Given the description of an element on the screen output the (x, y) to click on. 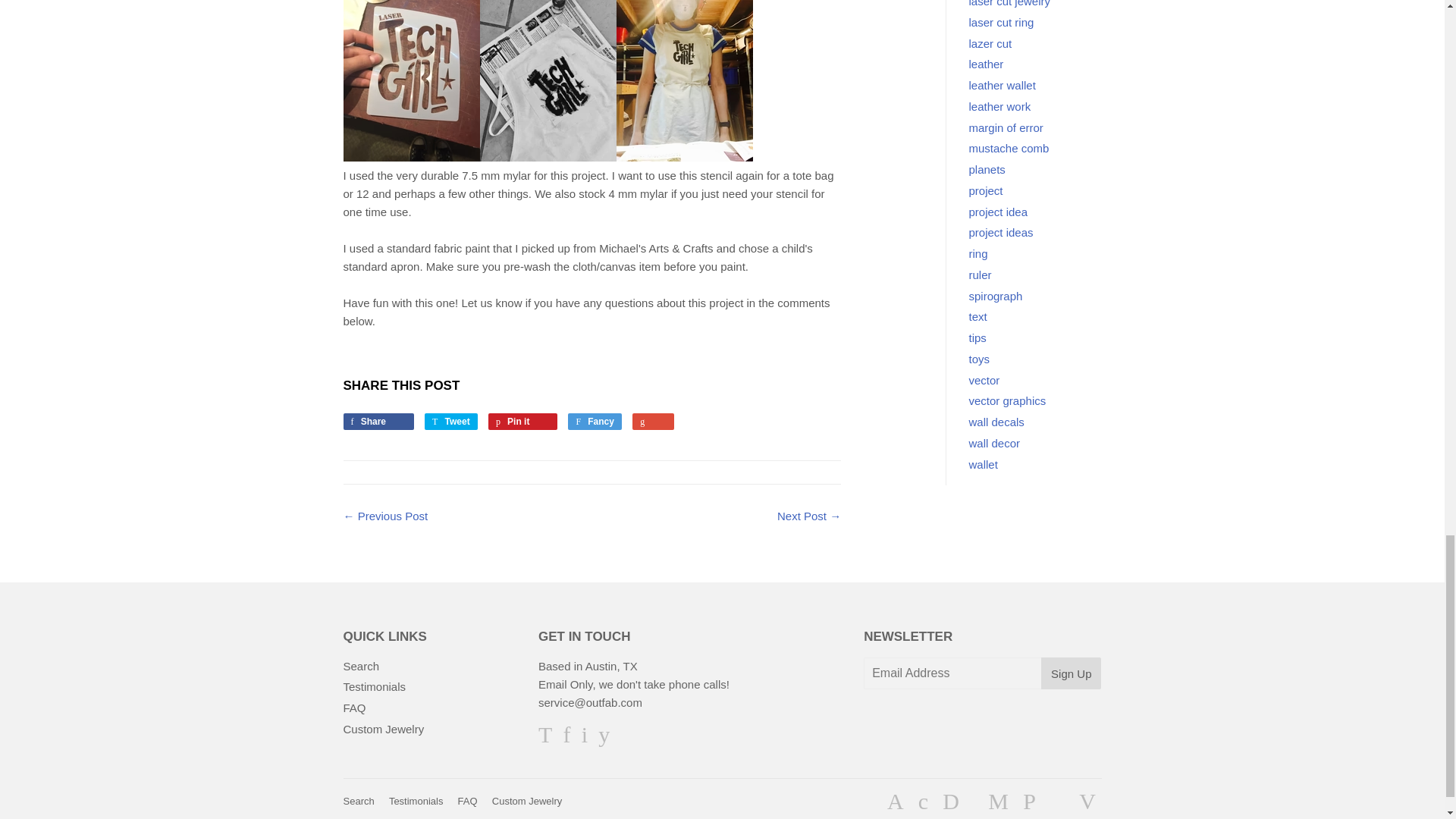
Share (377, 421)
Pin it (522, 421)
Tweet (451, 421)
Fancy (594, 421)
